Given the description of an element on the screen output the (x, y) to click on. 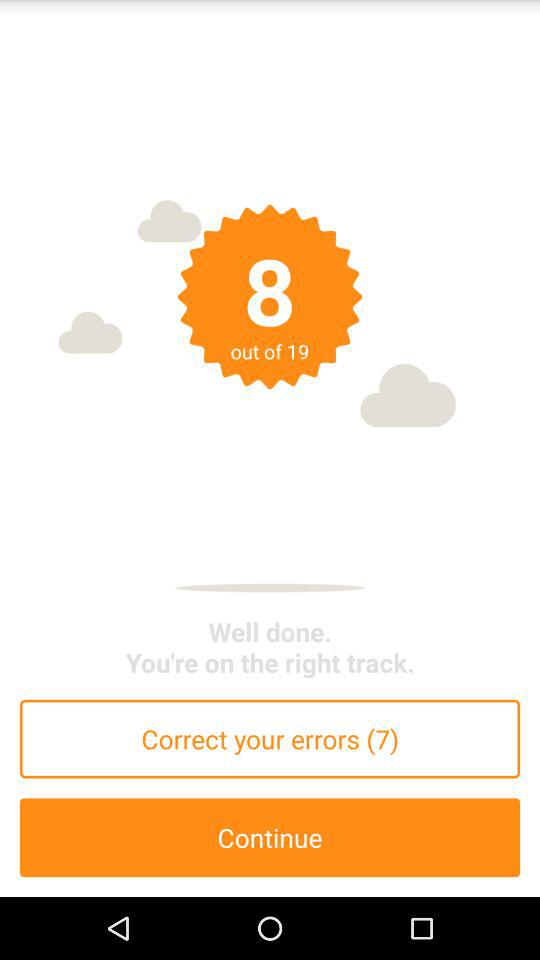
click app below the correct your errors app (269, 837)
